Given the description of an element on the screen output the (x, y) to click on. 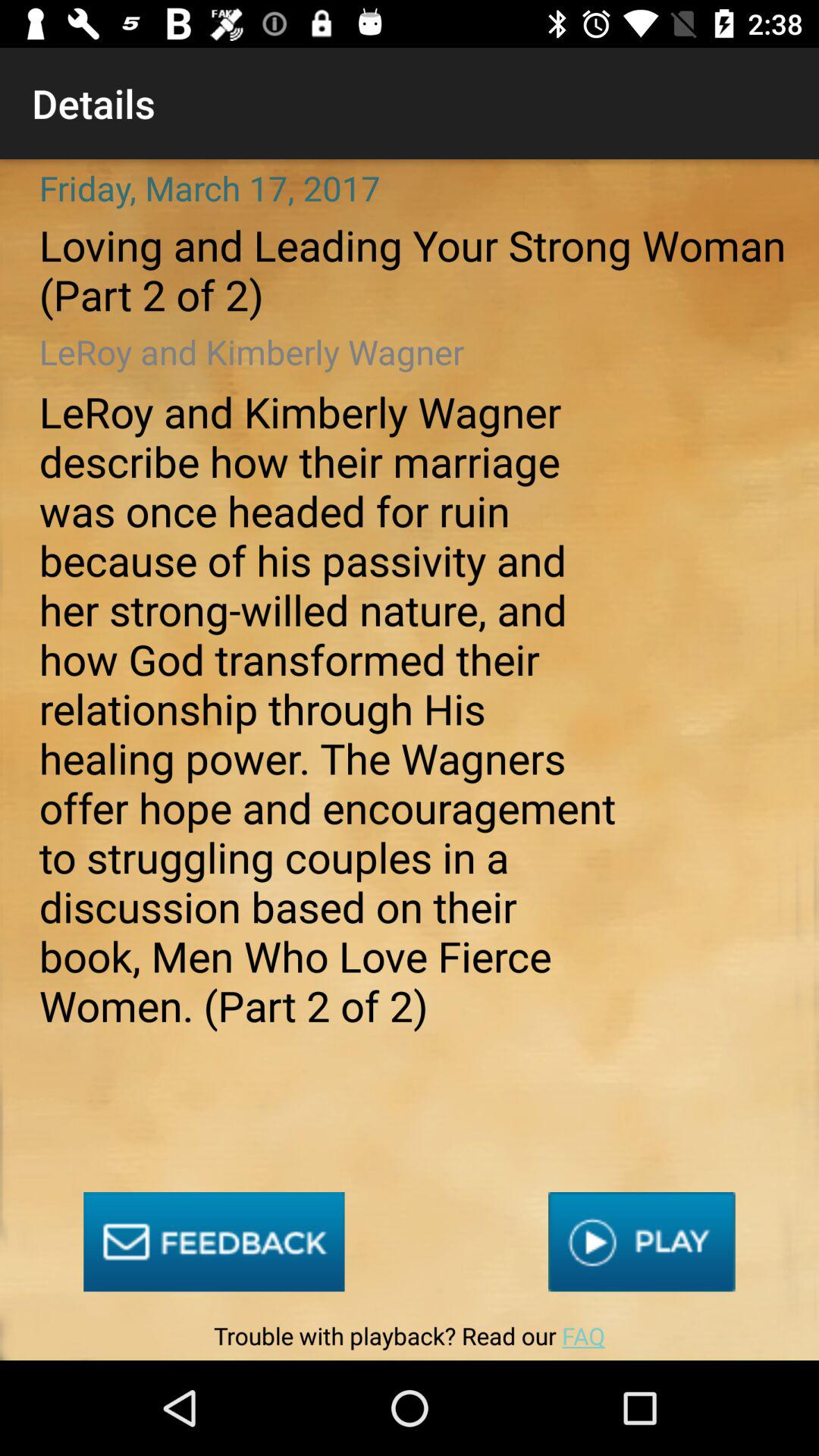
tap icon at the bottom left corner (213, 1241)
